Given the description of an element on the screen output the (x, y) to click on. 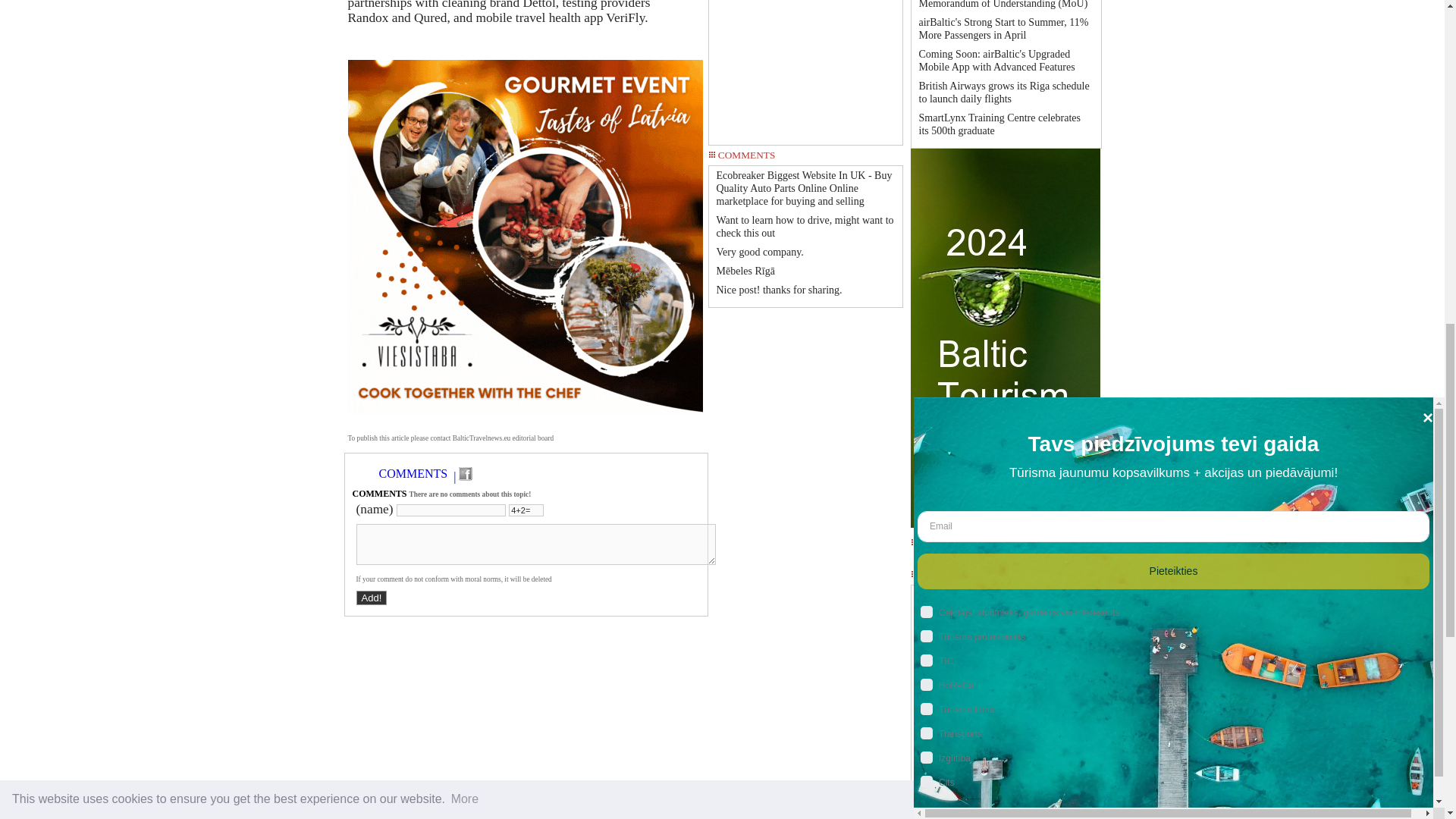
Add! (371, 597)
Add! (371, 597)
Advertisement (804, 67)
AirGuru (1005, 594)
SmartLynx Training Centre celebrates its 500th graduate (999, 124)
COMMENTS (413, 473)
